Given the description of an element on the screen output the (x, y) to click on. 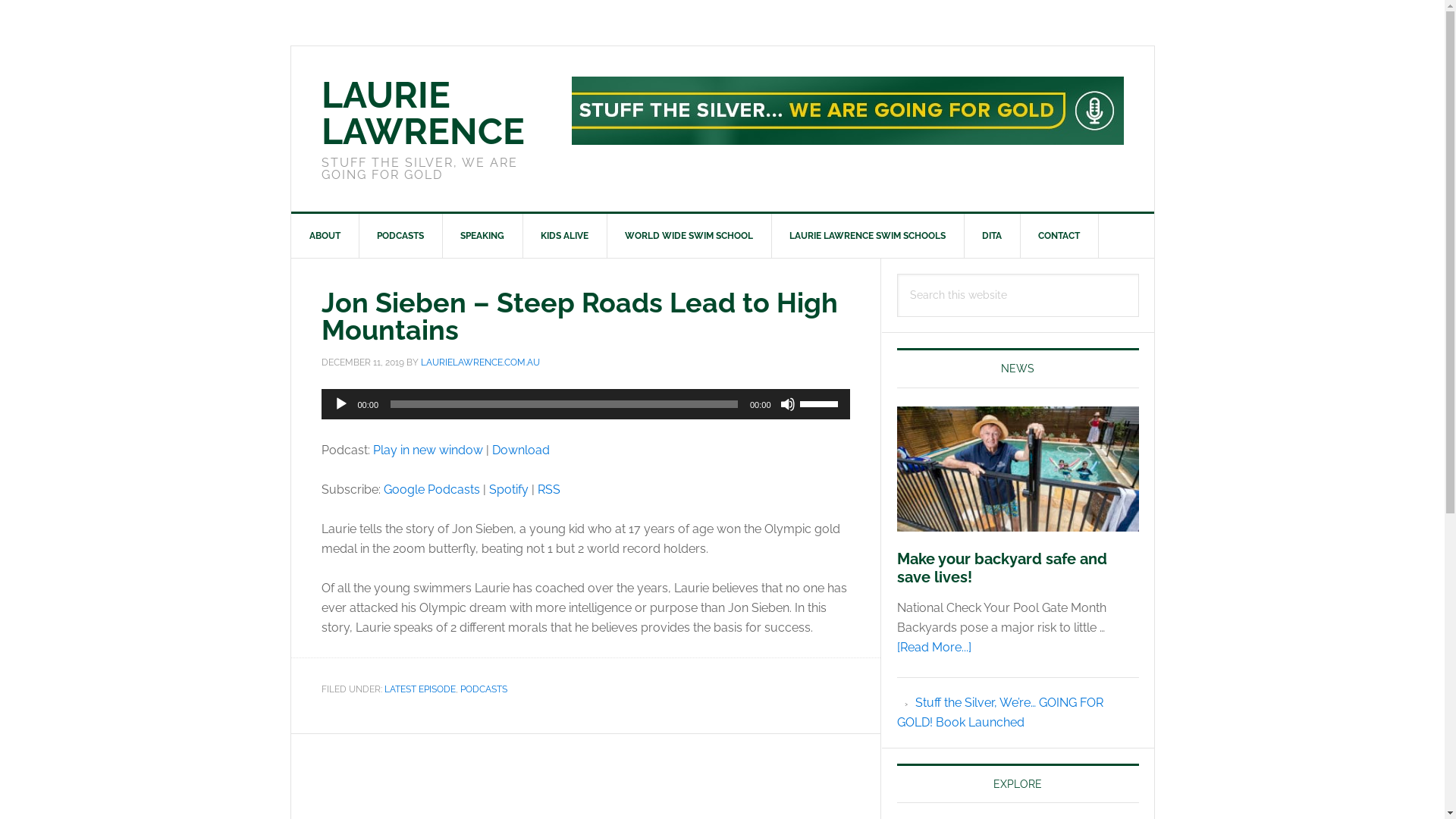
Make your backyard safe and save lives! Element type: text (1001, 567)
PODCASTS Element type: text (399, 235)
KIDS ALIVE Element type: text (563, 235)
Play in new window Element type: text (428, 449)
PODCASTS Element type: text (482, 689)
WORLD WIDE SWIM SCHOOL Element type: text (688, 235)
SPEAKING Element type: text (481, 235)
LAURIE LAWRENCE SWIM SCHOOLS Element type: text (866, 235)
LAURIELAWRENCE.COM.AU Element type: text (479, 362)
Google Podcasts Element type: text (431, 489)
RSS Element type: text (547, 489)
Spotify Element type: text (507, 489)
[Read More...]
about Make your backyard safe and save lives! Element type: text (933, 647)
CONTACT Element type: text (1058, 235)
Skip to primary navigation Element type: text (0, 0)
Mute Element type: hover (786, 403)
Download Element type: text (520, 449)
Use Up/Down Arrow keys to increase or decrease volume. Element type: text (820, 401)
LATEST EPISODE Element type: text (419, 689)
LAURIE LAWRENCE Element type: text (422, 112)
DITA Element type: text (991, 235)
Search Element type: text (1139, 273)
Play Element type: hover (340, 403)
ABOUT Element type: text (325, 235)
